Given the description of an element on the screen output the (x, y) to click on. 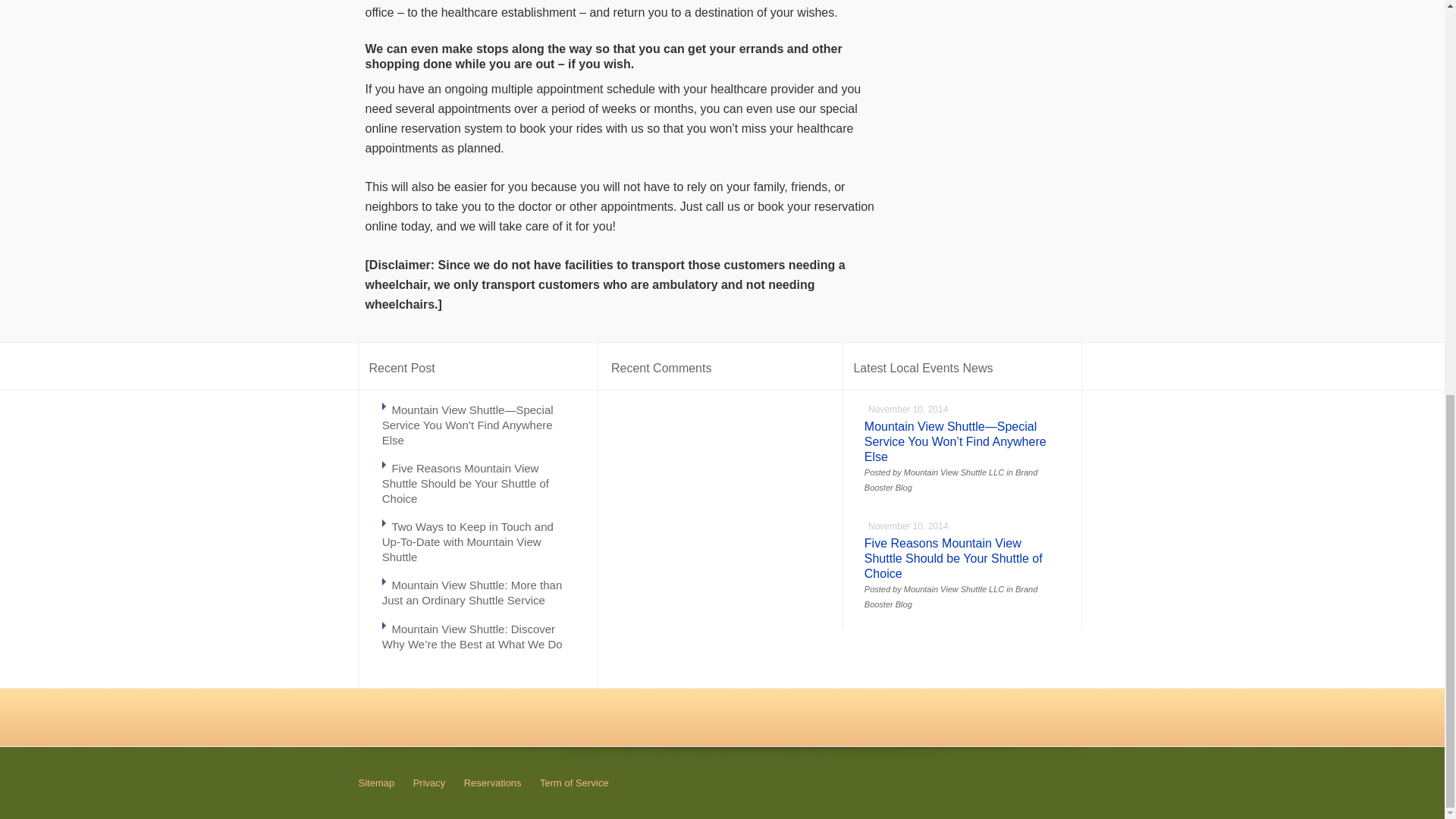
Privacy (429, 782)
Brand Booster Blog (951, 596)
Brand Booster Blog (951, 479)
Reservations (492, 782)
Term of Service (574, 782)
Sitemap (376, 782)
